Given the description of an element on the screen output the (x, y) to click on. 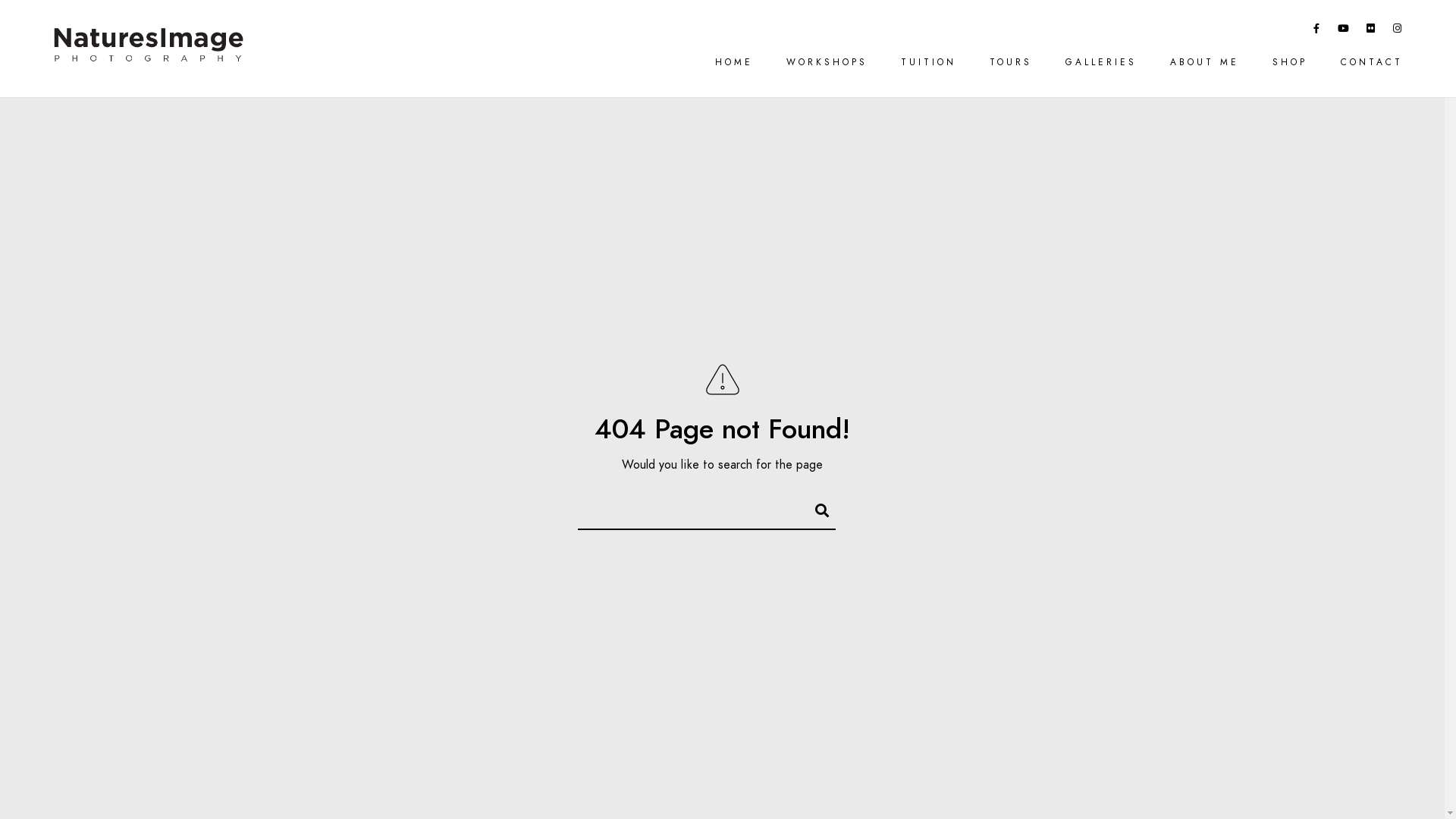
HOME Element type: text (734, 62)
GALLERIES Element type: text (1100, 62)
CONTACT Element type: text (1371, 62)
WORKSHOPS Element type: text (826, 62)
TUITION Element type: text (928, 62)
Search Element type: hover (814, 507)
TOURS Element type: text (1010, 62)
SHOP Element type: text (1289, 62)
ABOUT ME Element type: text (1204, 62)
